Given the description of an element on the screen output the (x, y) to click on. 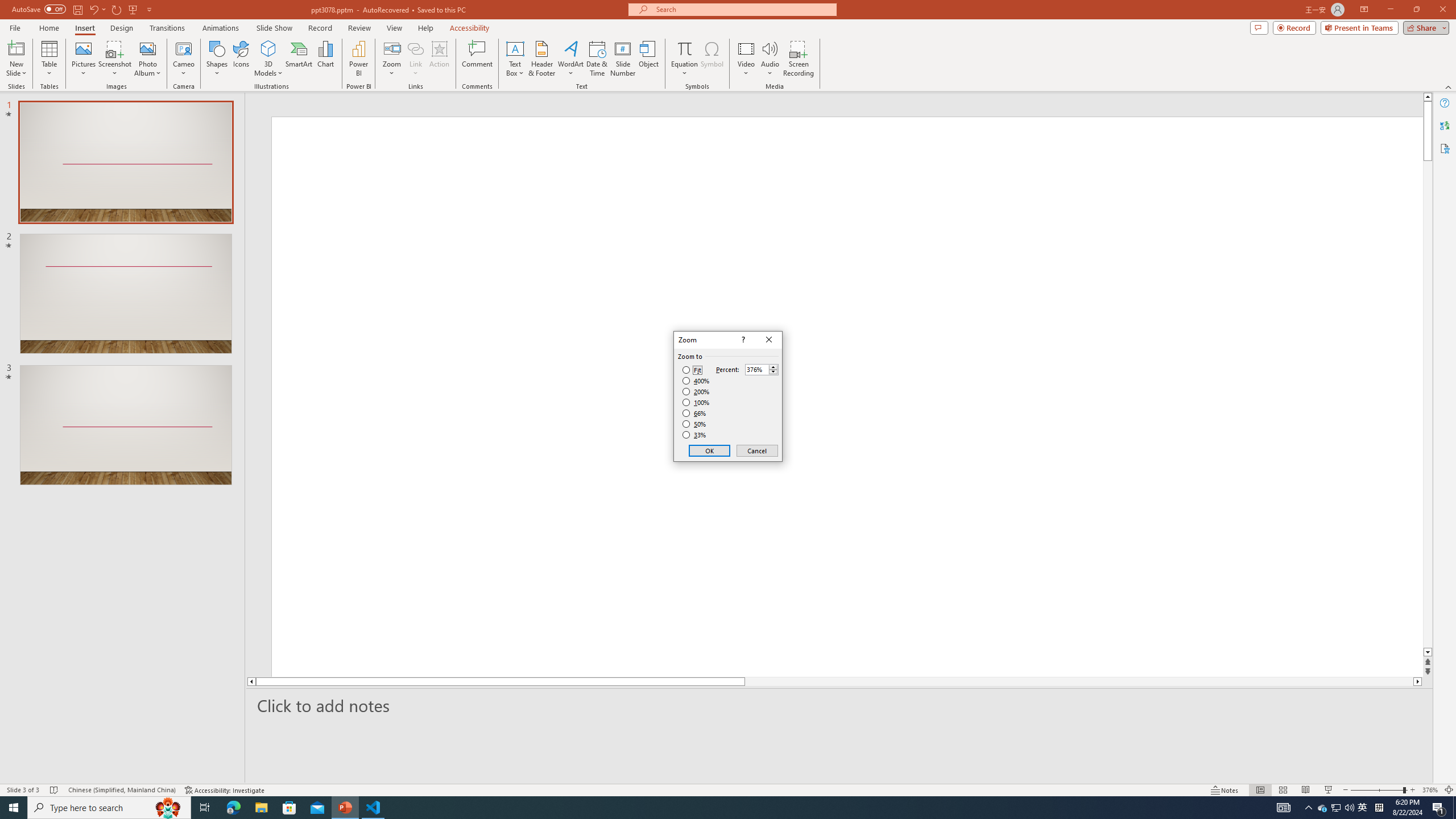
Percent (761, 369)
An abstract genetic concept (363, 526)
Zoom 376% (1430, 790)
